Given the description of an element on the screen output the (x, y) to click on. 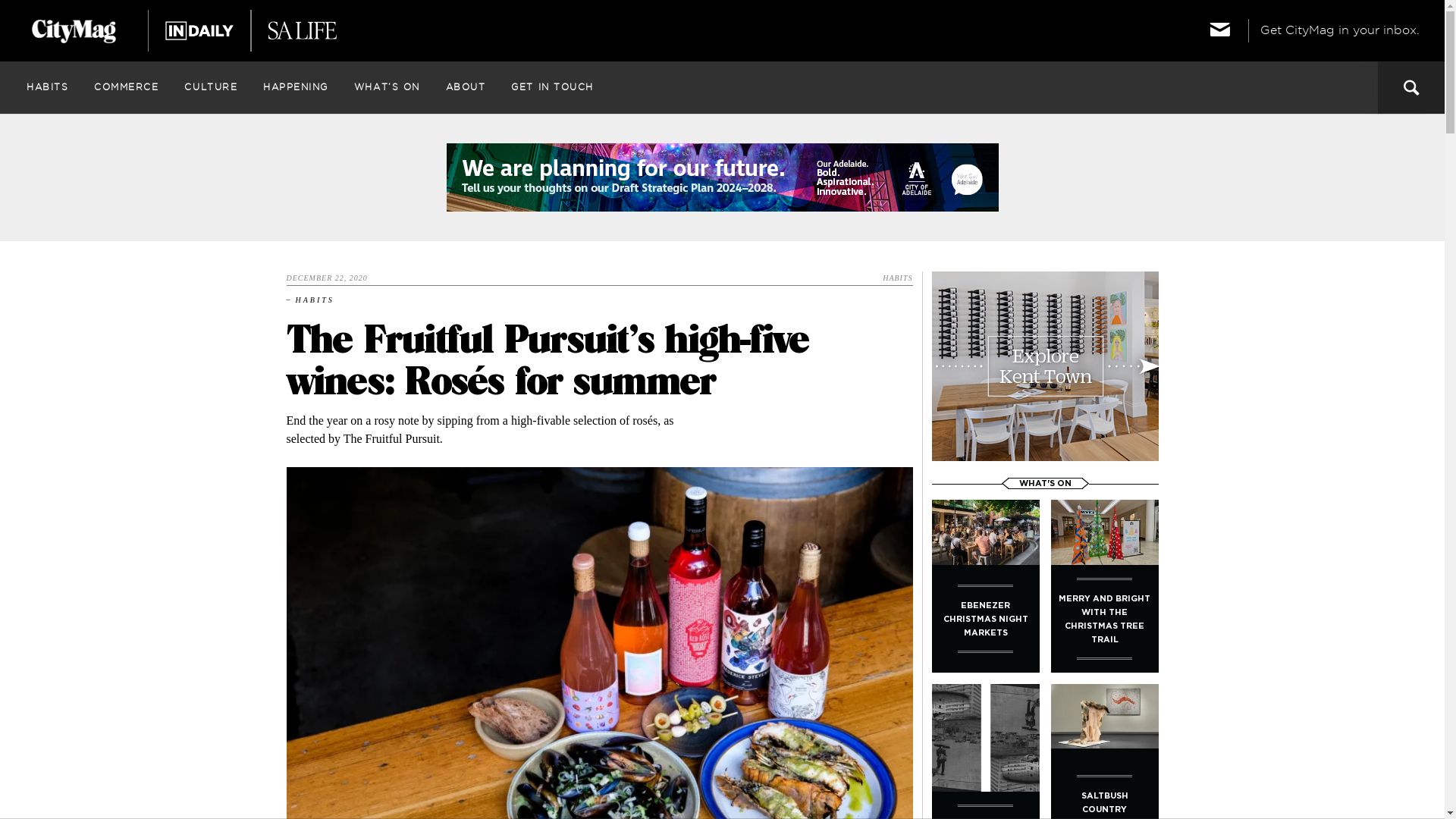
HAPPENING Element type: text (295, 86)
COMMERCE Element type: text (126, 86)
MERRY AND BRIGHT WITH THE CHRISTMAS TREE TRAIL Element type: text (1104, 585)
WHAT'S ON Element type: text (1044, 483)
3rd party ad content Element type: hover (1044, 366)
GET IN TOUCH Element type: text (551, 86)
Get CityMag in your inbox. Element type: text (1314, 30)
EBENEZER CHRISTMAS NIGHT MARKETS Element type: text (984, 585)
3rd party ad content Element type: hover (721, 177)
HABITS Element type: text (47, 86)
ABOUT Element type: text (465, 86)
CULTURE Element type: text (210, 86)
